Given the description of an element on the screen output the (x, y) to click on. 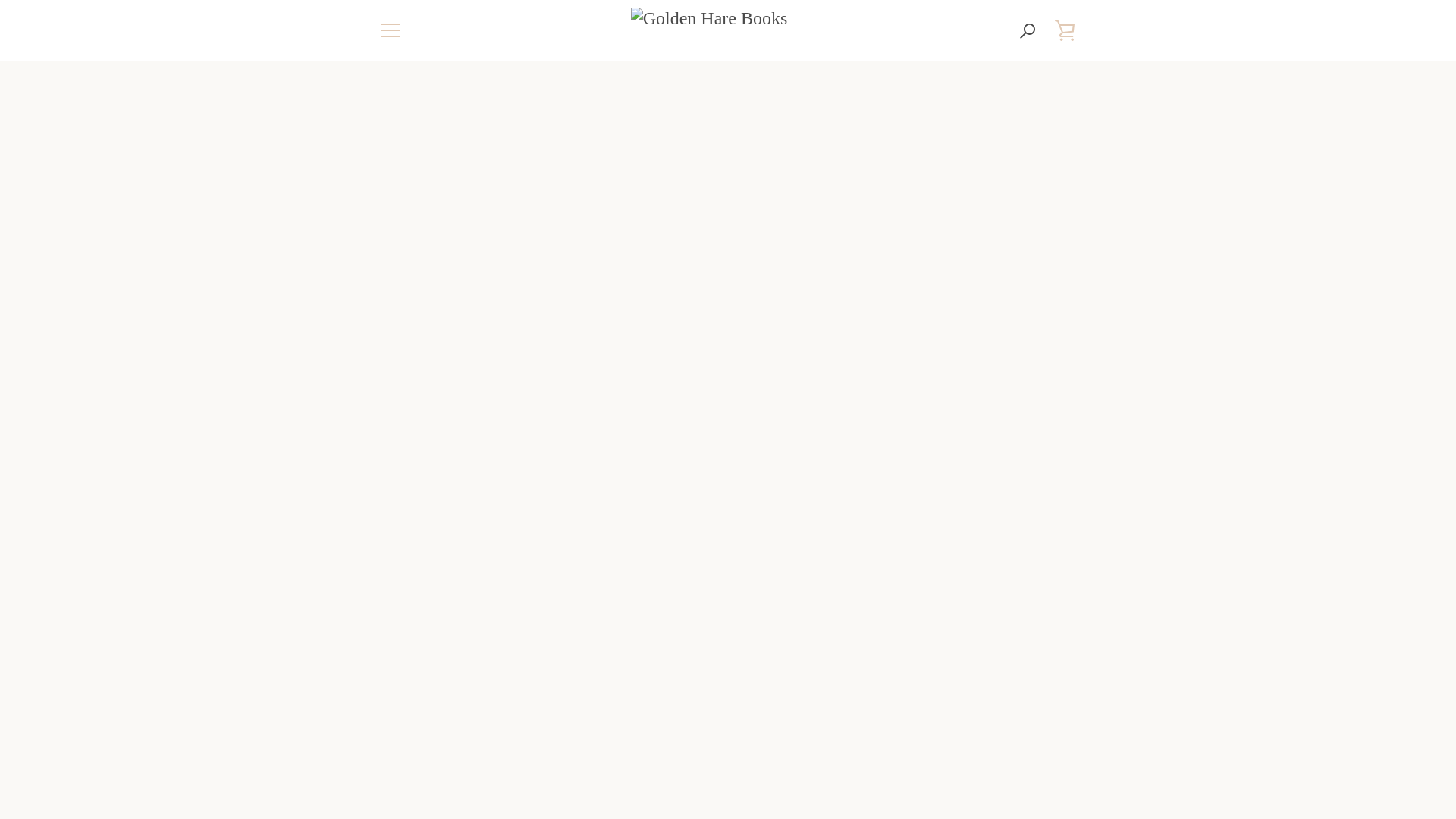
MENU (390, 30)
